Given the description of an element on the screen output the (x, y) to click on. 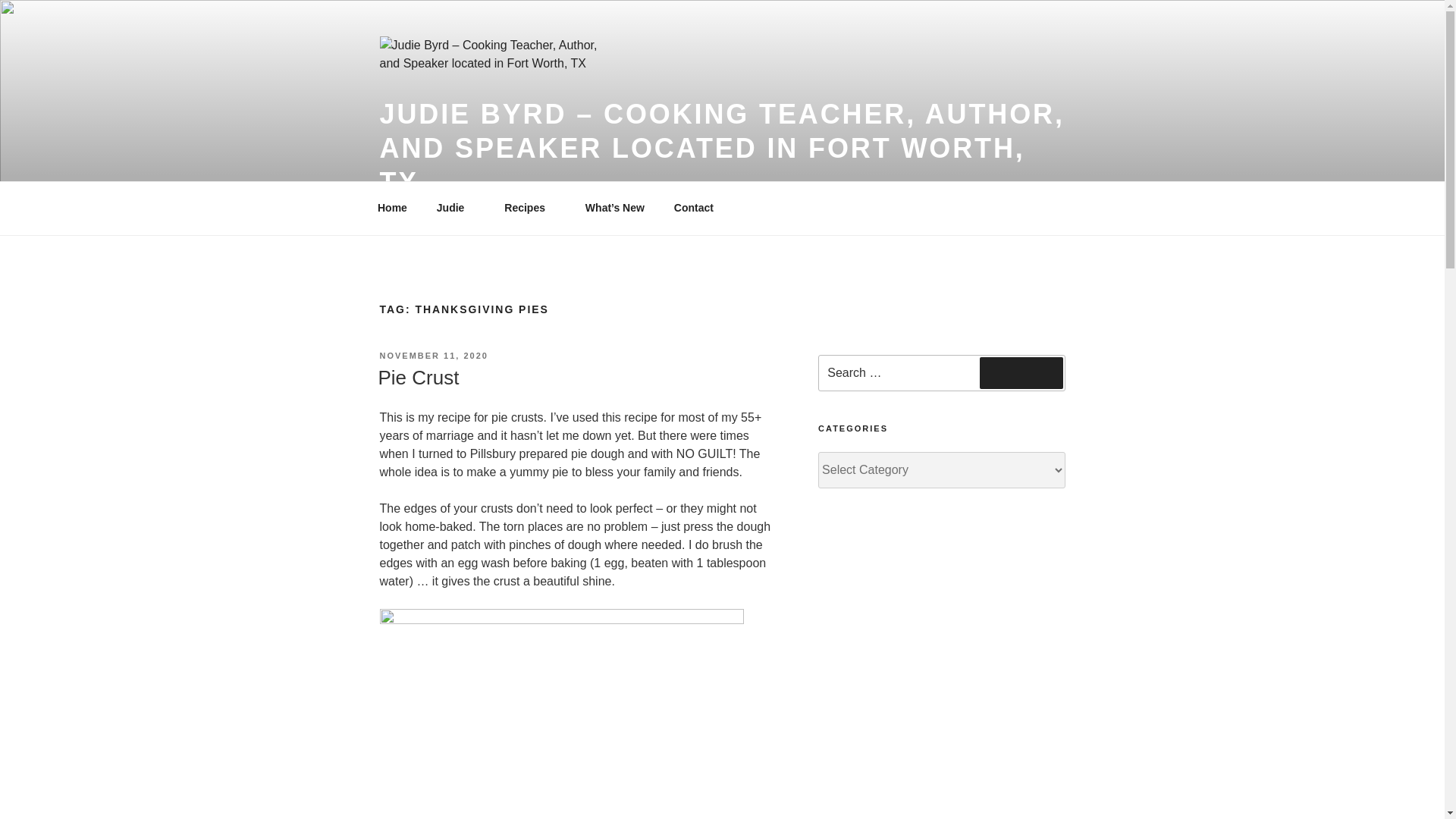
Recipes (530, 207)
Pie Crust (417, 377)
Search (1020, 373)
NOVEMBER 11, 2020 (432, 355)
Contact (693, 207)
Judie (455, 207)
Home (392, 207)
